Given the description of an element on the screen output the (x, y) to click on. 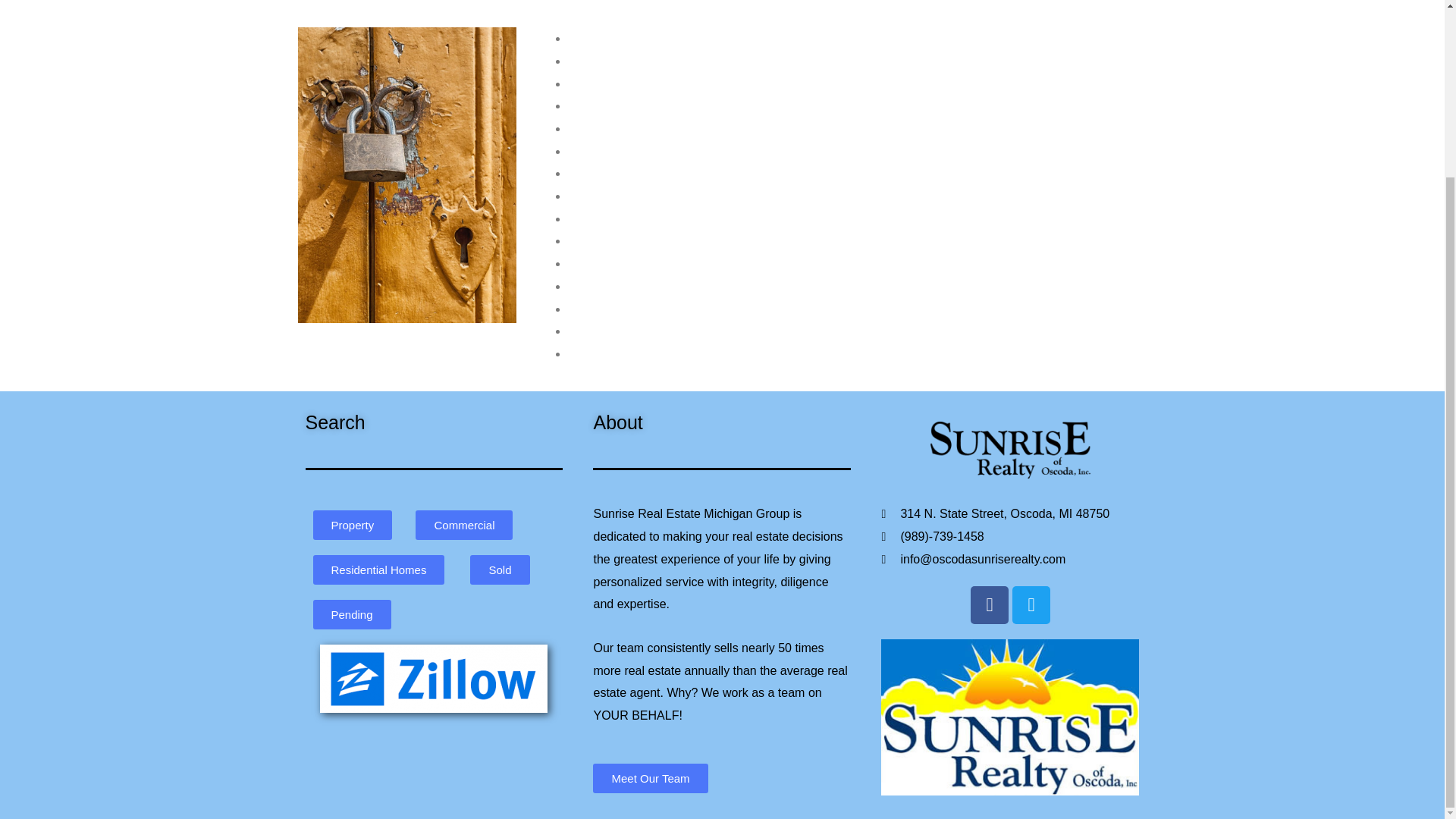
Protect Your Home From Burglary (658, 60)
Thinking About Home Improvements? (669, 38)
Mortgage Survey Shows Importance Of FHA Financing (715, 105)
Fans Help Beat The Summer Heat (660, 83)
Weatherproof Your Home For Winter (665, 353)
How Energy Efficient Is Your Fireplace? (673, 128)
The Added Security Of A Neighborhood Watch Group (710, 330)
Prepare For Plumbing Emergencies Now (678, 263)
Property (352, 524)
